Given the description of an element on the screen output the (x, y) to click on. 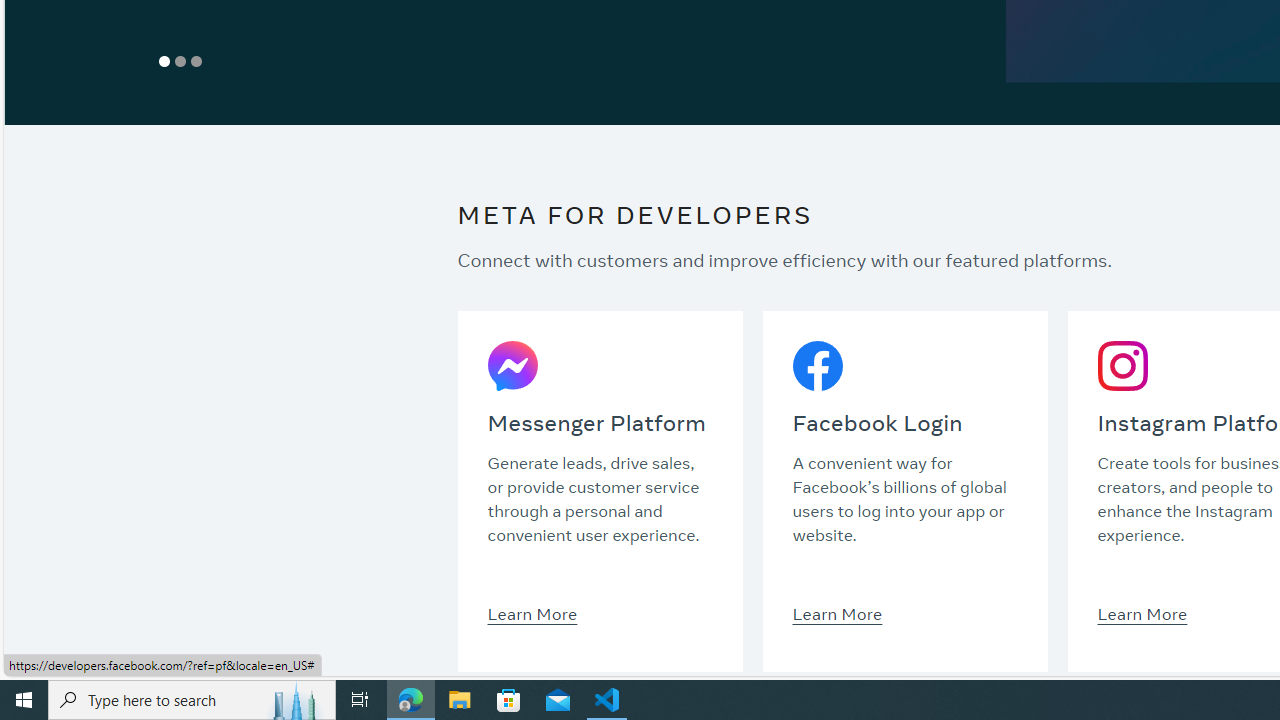
Show Slide 2 (180, 61)
Learn More (1141, 613)
Show Slide 3 (196, 61)
Show Slide 1 (164, 61)
